Given the description of an element on the screen output the (x, y) to click on. 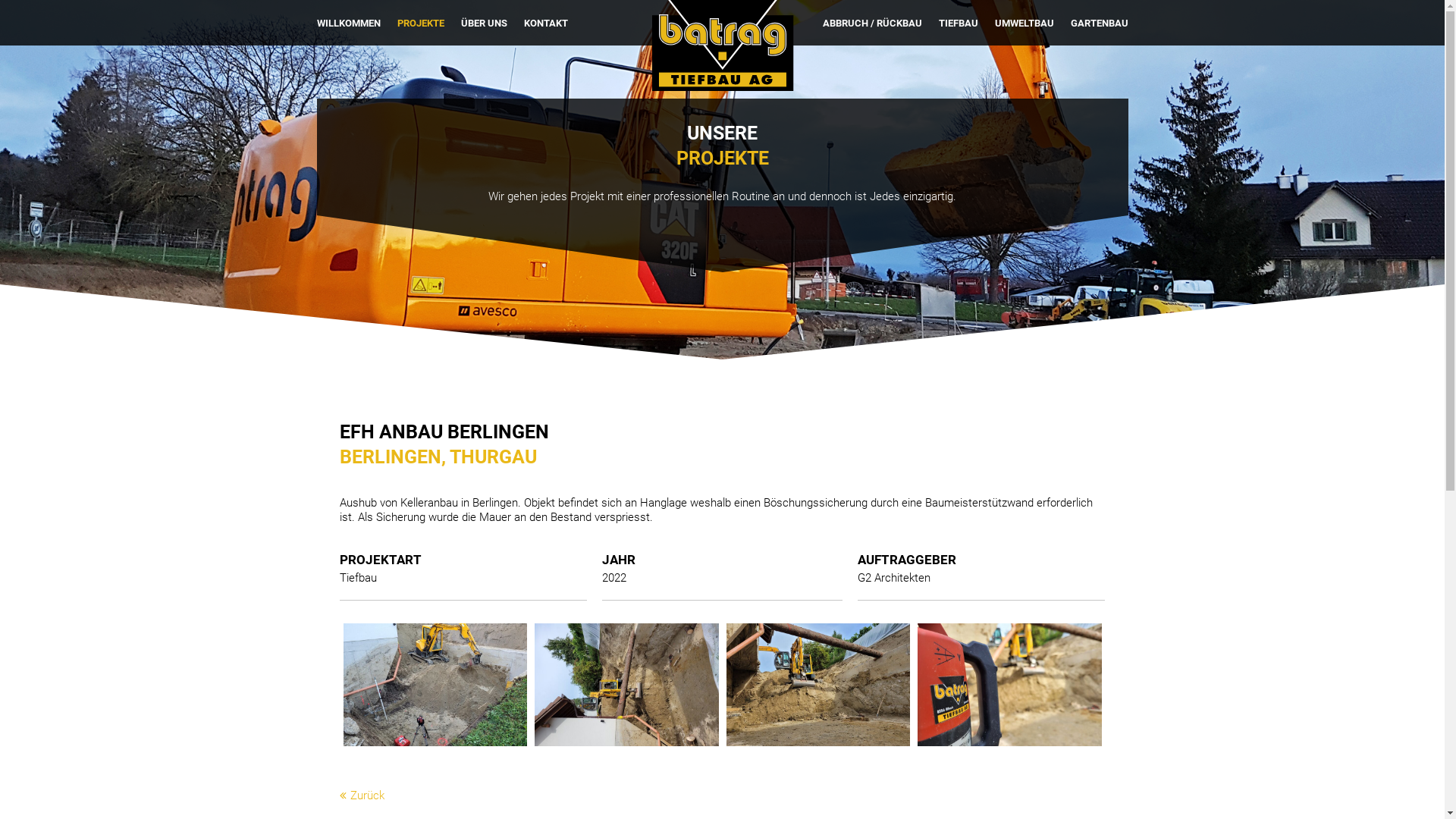
GARTENBAU Element type: text (1099, 23)
UMWELTBAU Element type: text (1024, 23)
PROJEKTE Element type: text (420, 23)
TIEFBAU Element type: text (958, 23)
WILLKOMMEN Element type: text (348, 23)
KONTAKT Element type: text (545, 23)
